Given the description of an element on the screen output the (x, y) to click on. 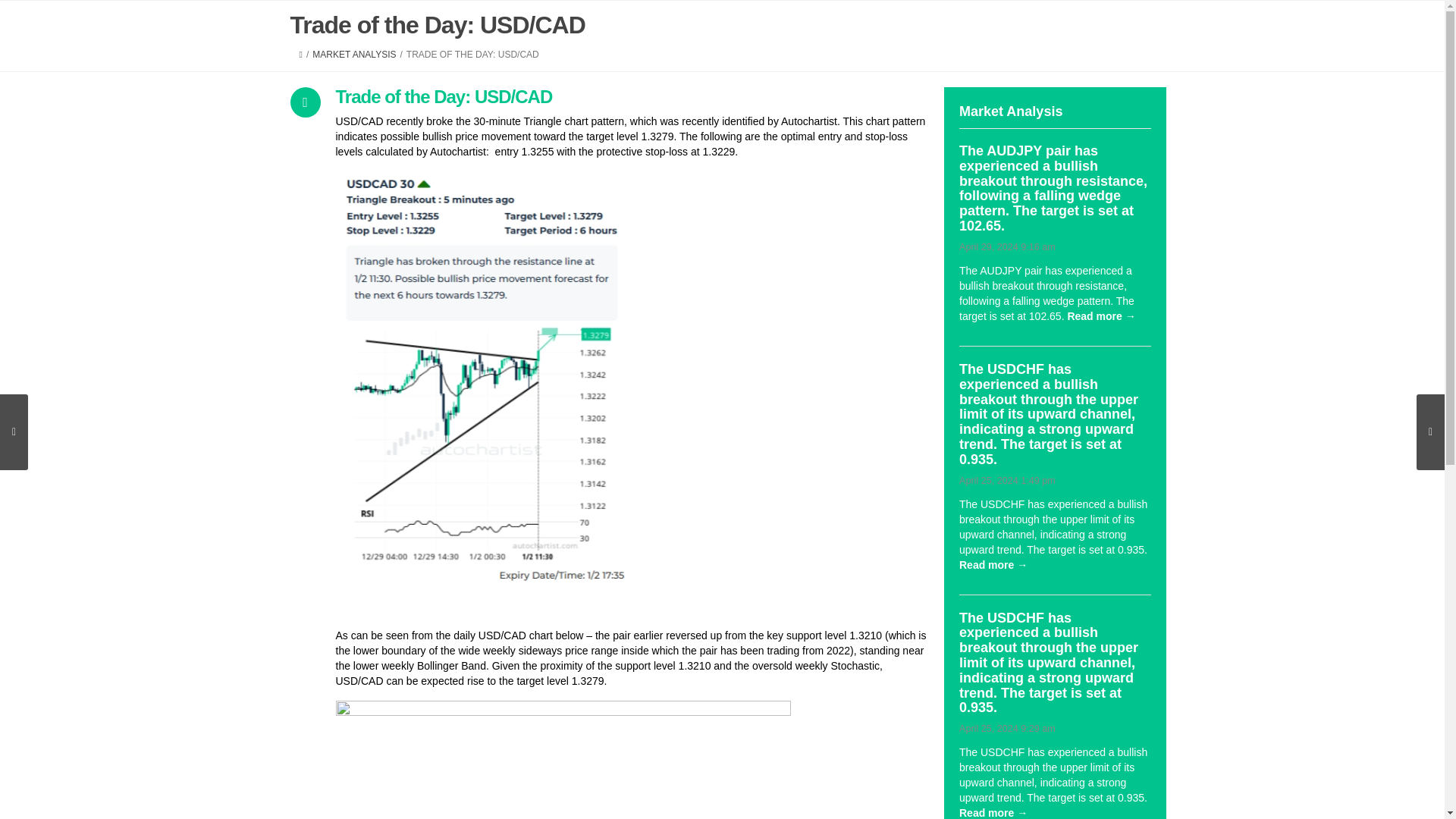
MARKET ANALYSIS (354, 54)
View all posts in Market Analysis (354, 54)
